Given the description of an element on the screen output the (x, y) to click on. 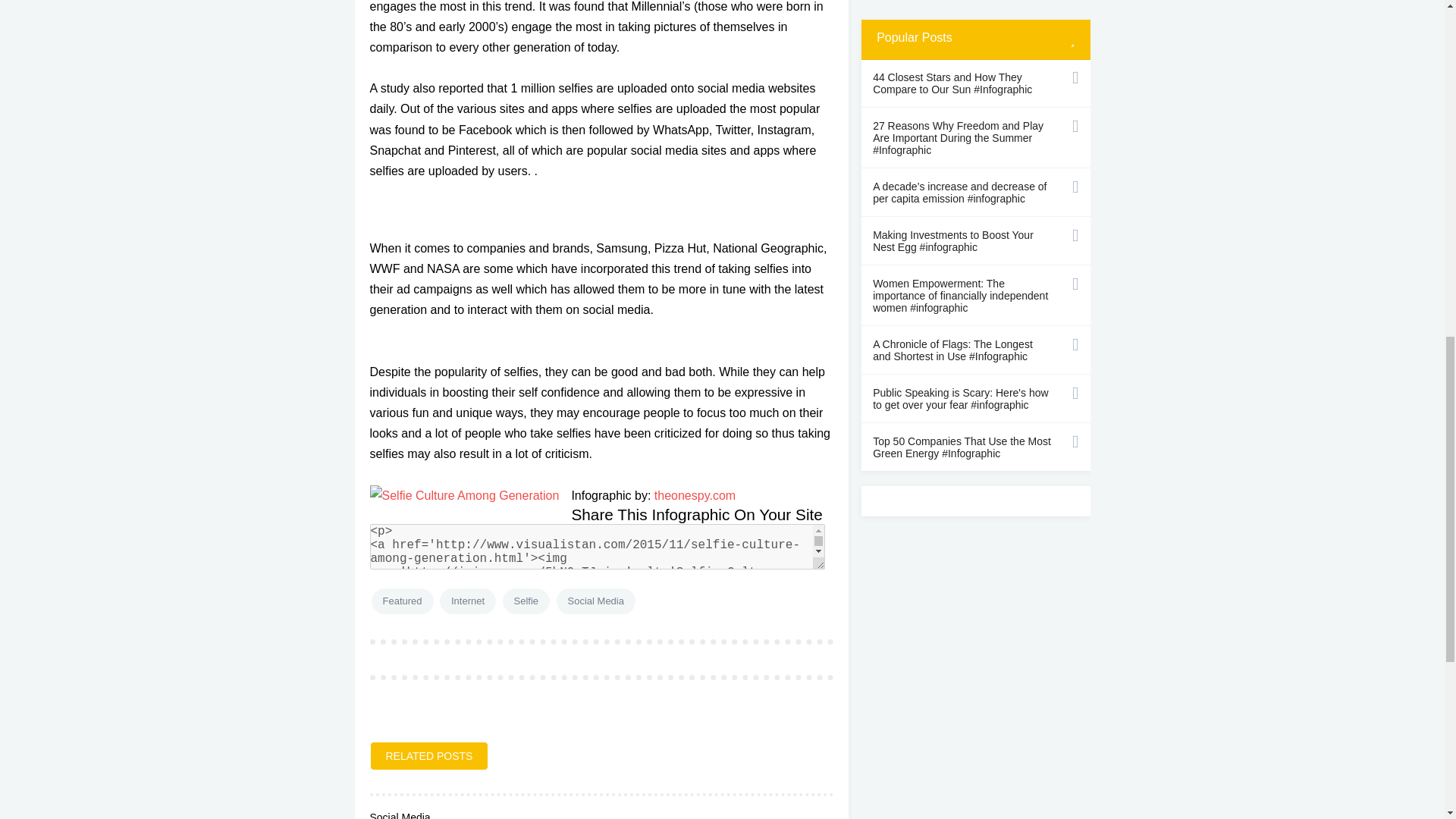
Featured (402, 601)
Social Media (595, 601)
Internet (467, 601)
theonespy.com (694, 495)
Selfie (526, 601)
